Given the description of an element on the screen output the (x, y) to click on. 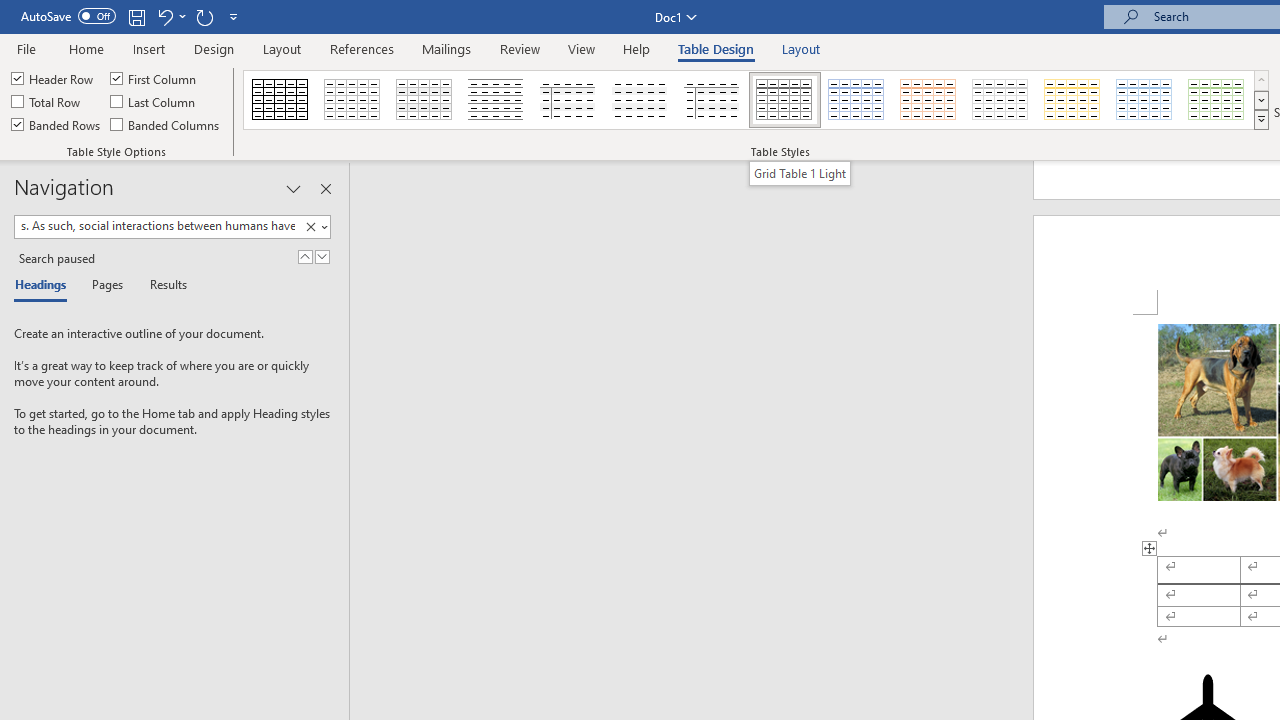
Banded Columns (166, 124)
Plain Table 2 (496, 100)
Plain Table 3 (568, 100)
Grid Table 1 Light (799, 173)
Grid Table 1 Light - Accent 2 (929, 100)
Grid Table 1 Light - Accent 6 (1217, 100)
Grid Table 1 Light - Accent 4 (1072, 100)
AutomationID: TableStylesGalleryWord (756, 99)
